Given the description of an element on the screen output the (x, y) to click on. 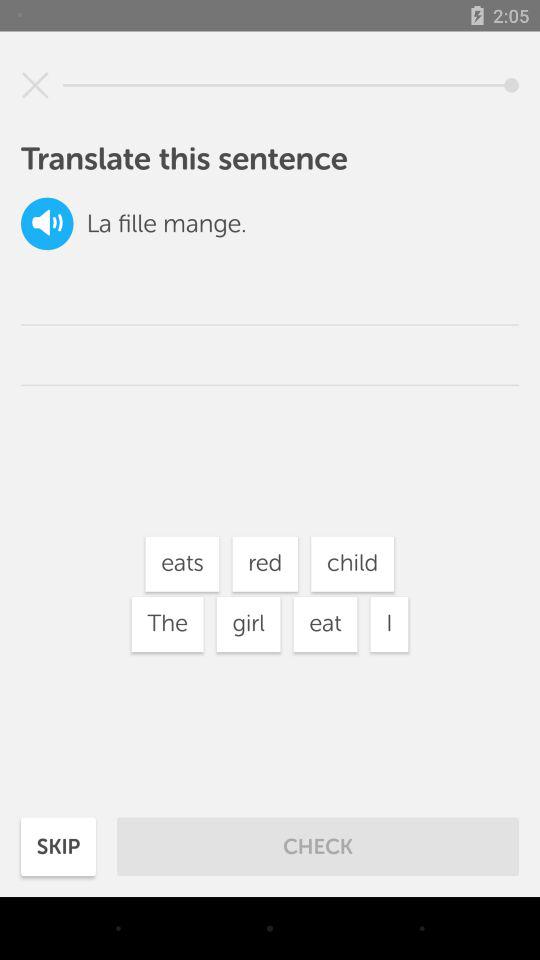
turn on the item next to i item (325, 624)
